Given the description of an element on the screen output the (x, y) to click on. 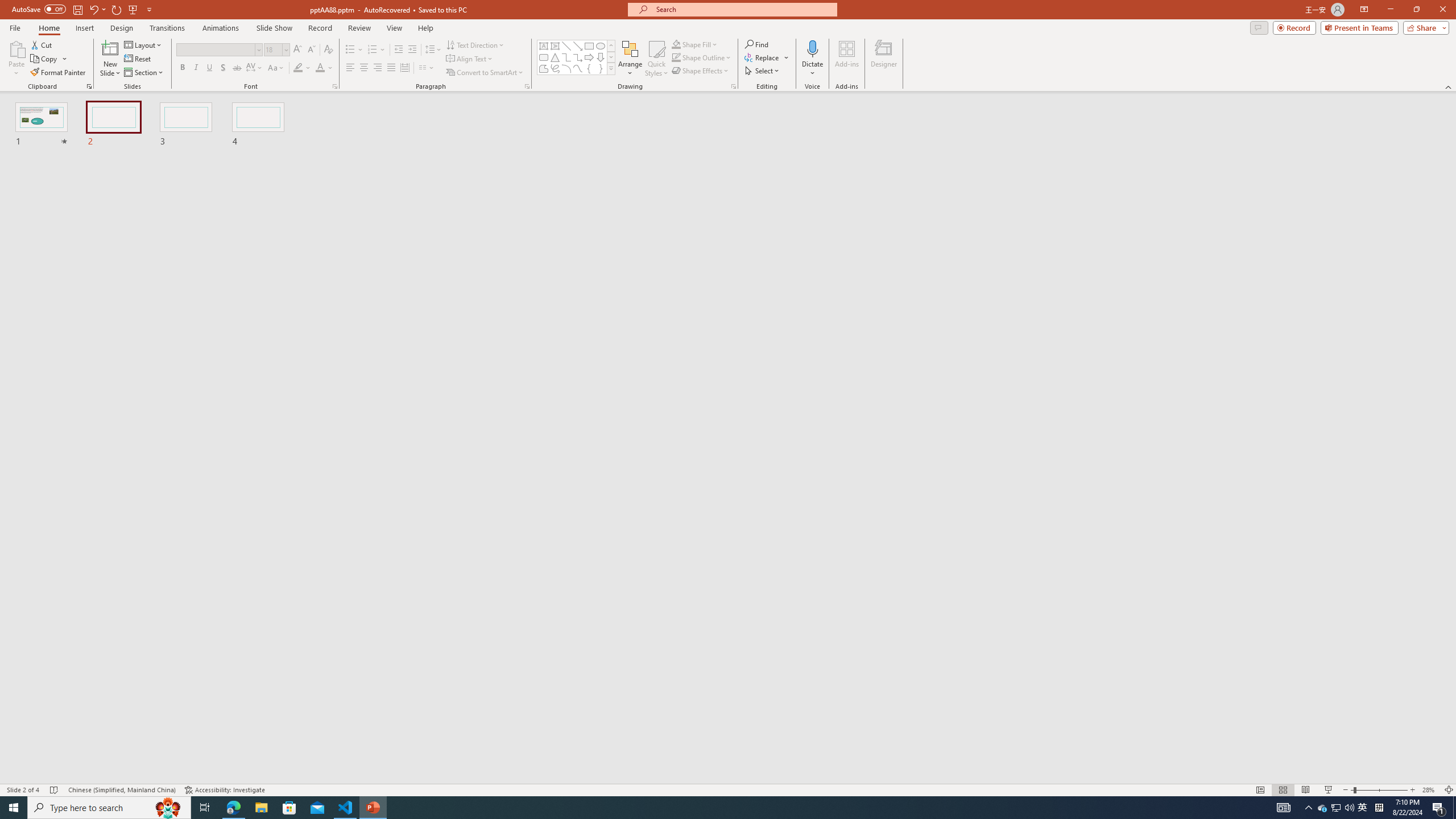
Shape Fill Aqua, Accent 2 (675, 44)
Select (762, 69)
Align Text (470, 58)
Arrow: Right (589, 57)
Decrease Indent (398, 49)
Convert to SmartArt (485, 72)
Underline (209, 67)
